Given the description of an element on the screen output the (x, y) to click on. 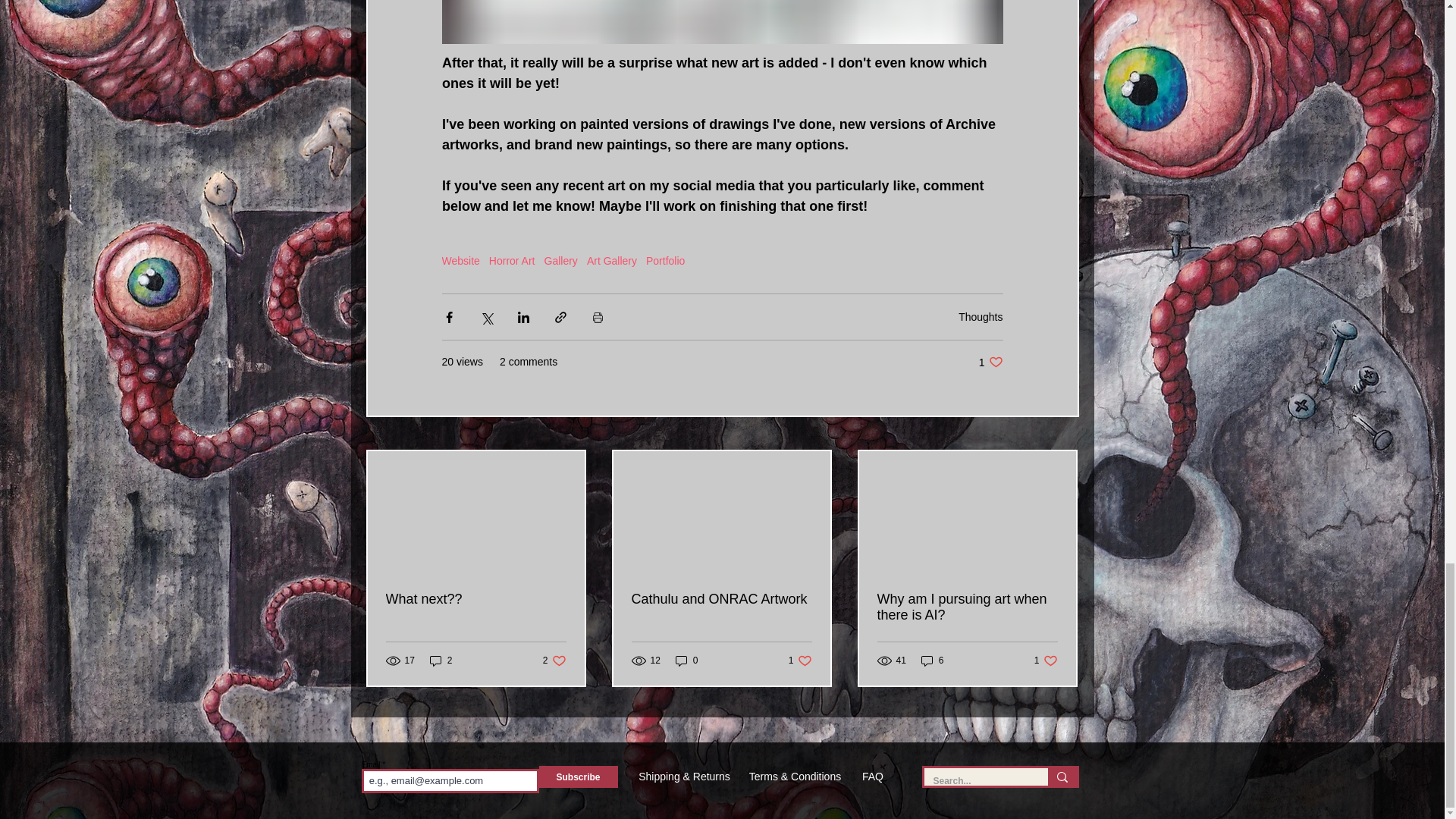
Thoughts (980, 316)
Art Gallery (611, 260)
Portfolio (665, 260)
Horror Art (512, 260)
Website (460, 260)
Gallery (561, 260)
